Given the description of an element on the screen output the (x, y) to click on. 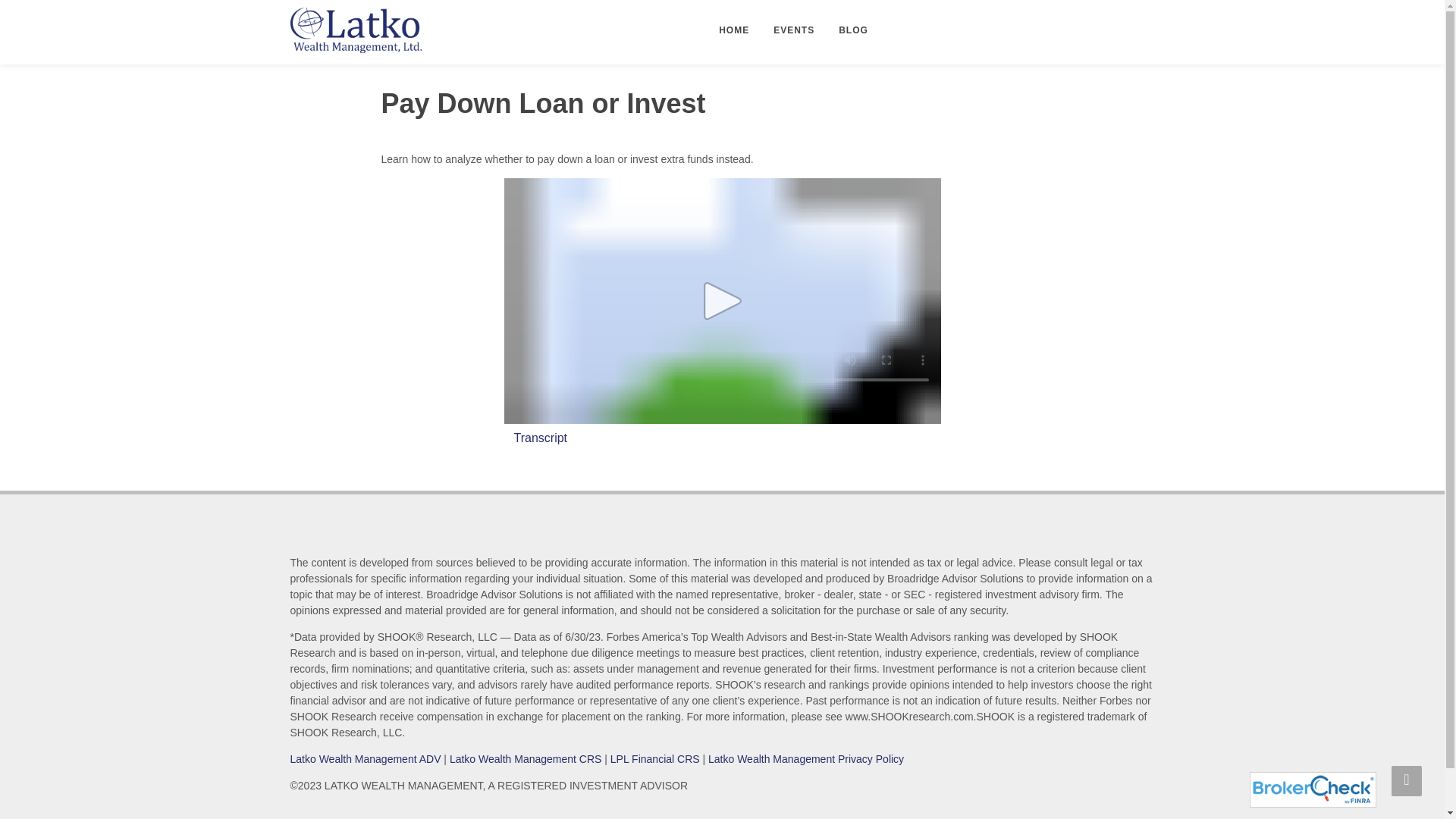
HOME (733, 30)
INDIVIDEO (721, 301)
Latko Wealth Management Privacy Policy (805, 758)
Transcript (539, 438)
BLOG (853, 30)
Latko Wealth Management CRS (525, 758)
Latko Wealth Management ADV (365, 758)
EVENTS (793, 30)
LPL Financial CRS (655, 758)
